Given the description of an element on the screen output the (x, y) to click on. 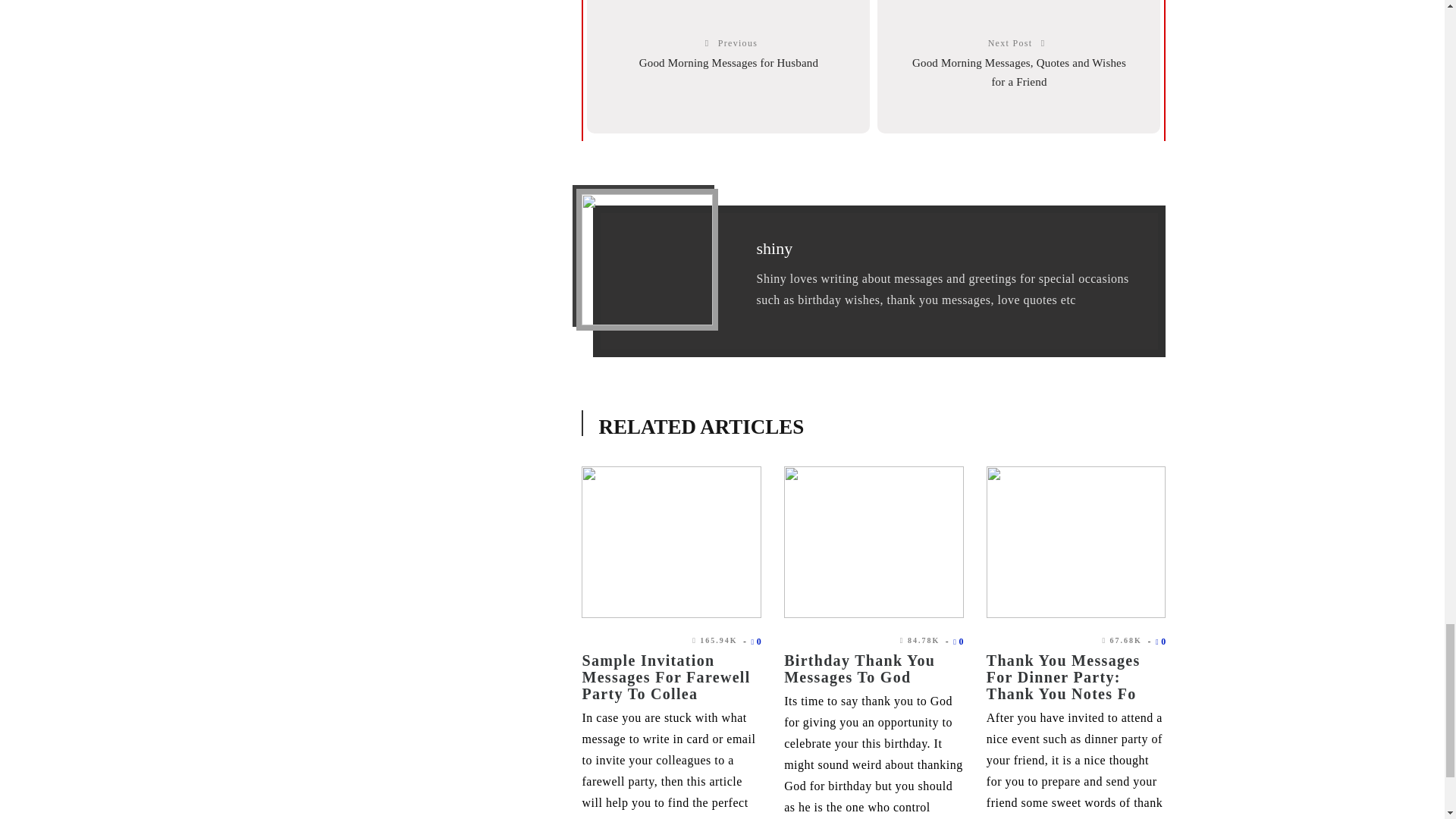
Good Morning Messages, Quotes and Wishes for a Friend (1018, 71)
Good Morning Messages for Husband (728, 62)
shiny (773, 248)
